Given the description of an element on the screen output the (x, y) to click on. 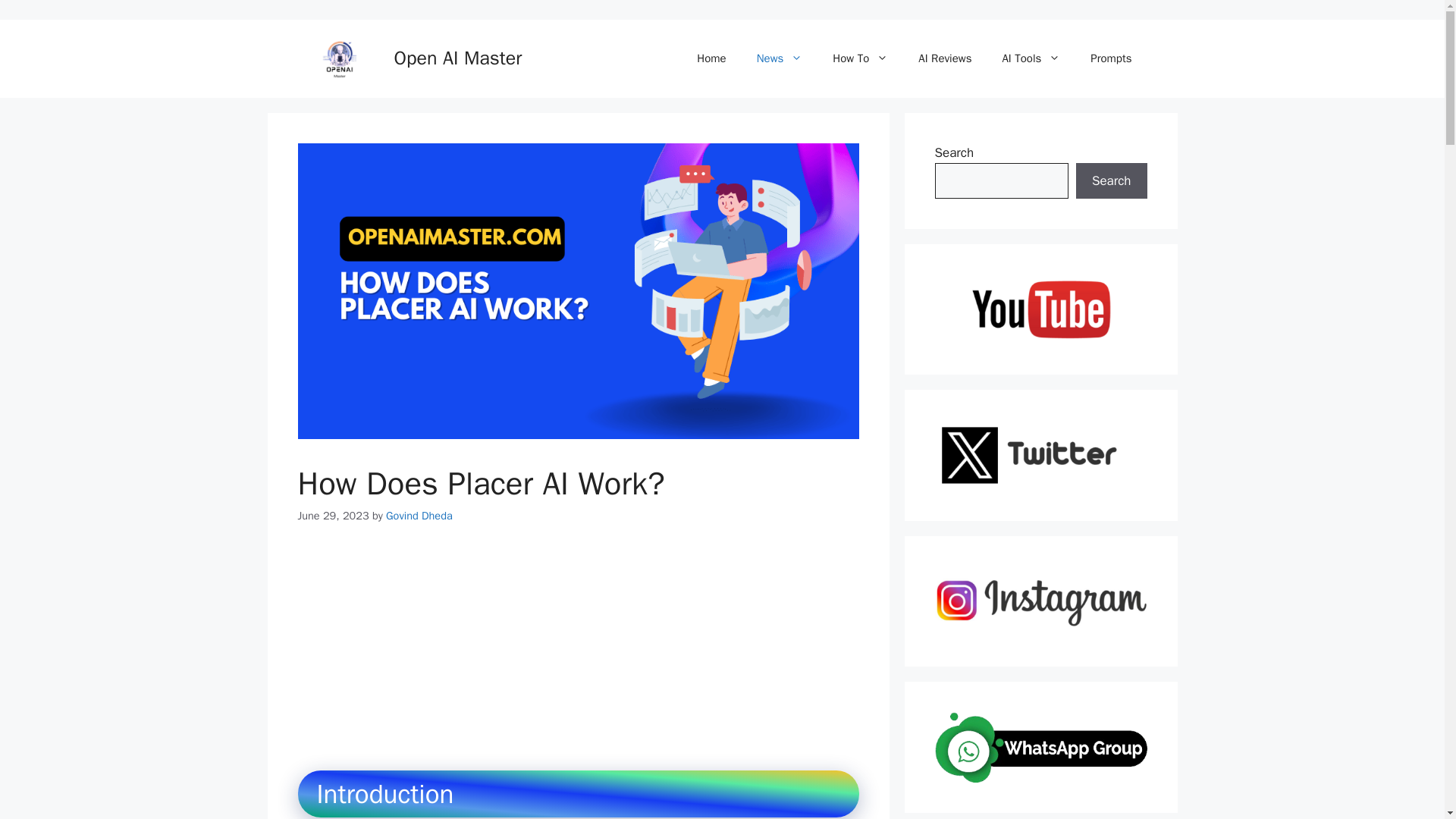
News (779, 58)
Search (1111, 180)
Home (711, 58)
Govind Dheda (418, 515)
AI Reviews (944, 58)
Advertisement (601, 656)
View all posts by Govind Dheda (418, 515)
How To (859, 58)
Prompts (1111, 58)
Open AI Master (458, 57)
AI Tools (1031, 58)
